Given the description of an element on the screen output the (x, y) to click on. 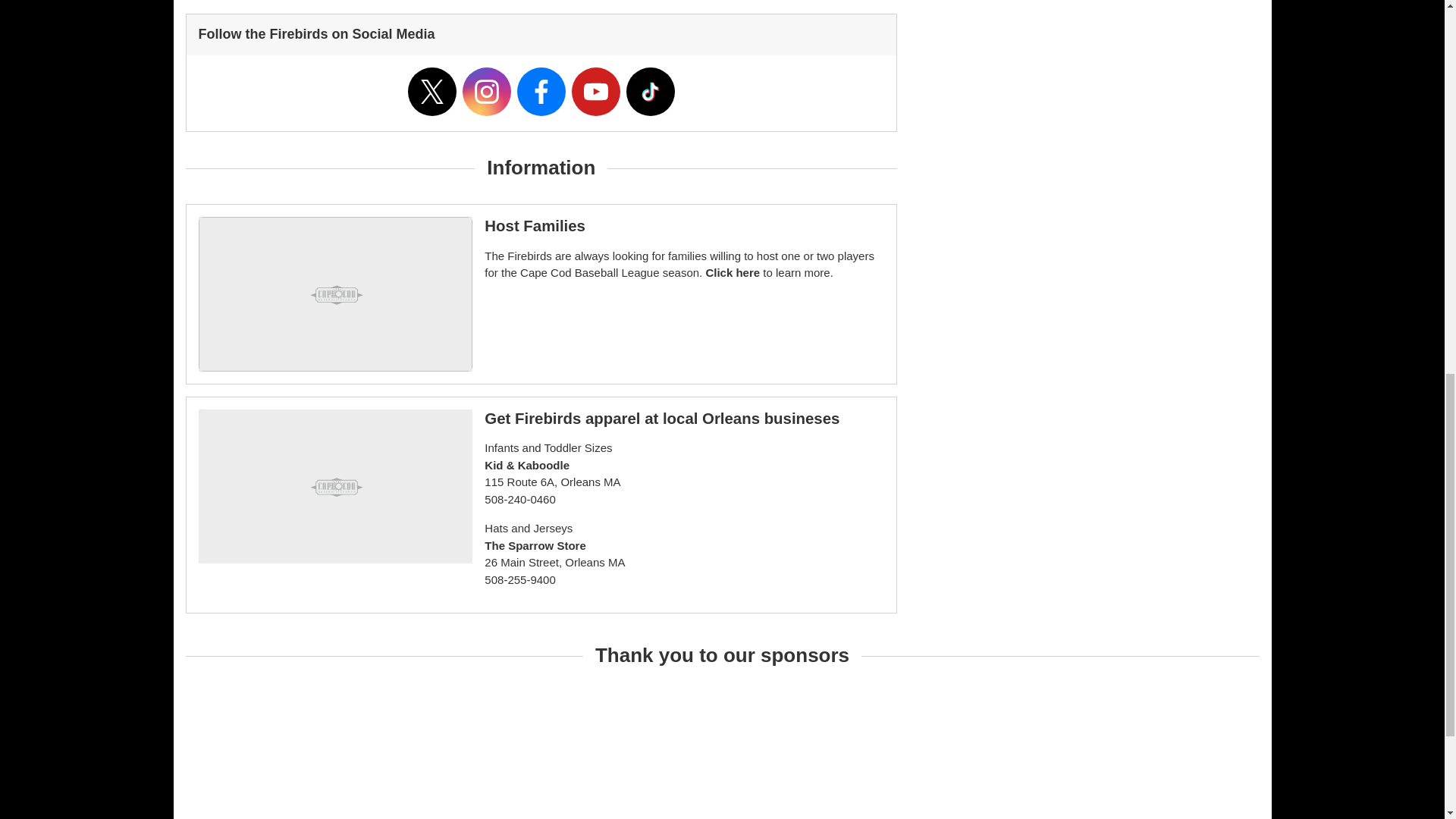
youtube-7 (595, 91)
x-4 (432, 91)
tiktok-8 (650, 91)
facebook-6 (541, 91)
instagram-5 (486, 91)
